Given the description of an element on the screen output the (x, y) to click on. 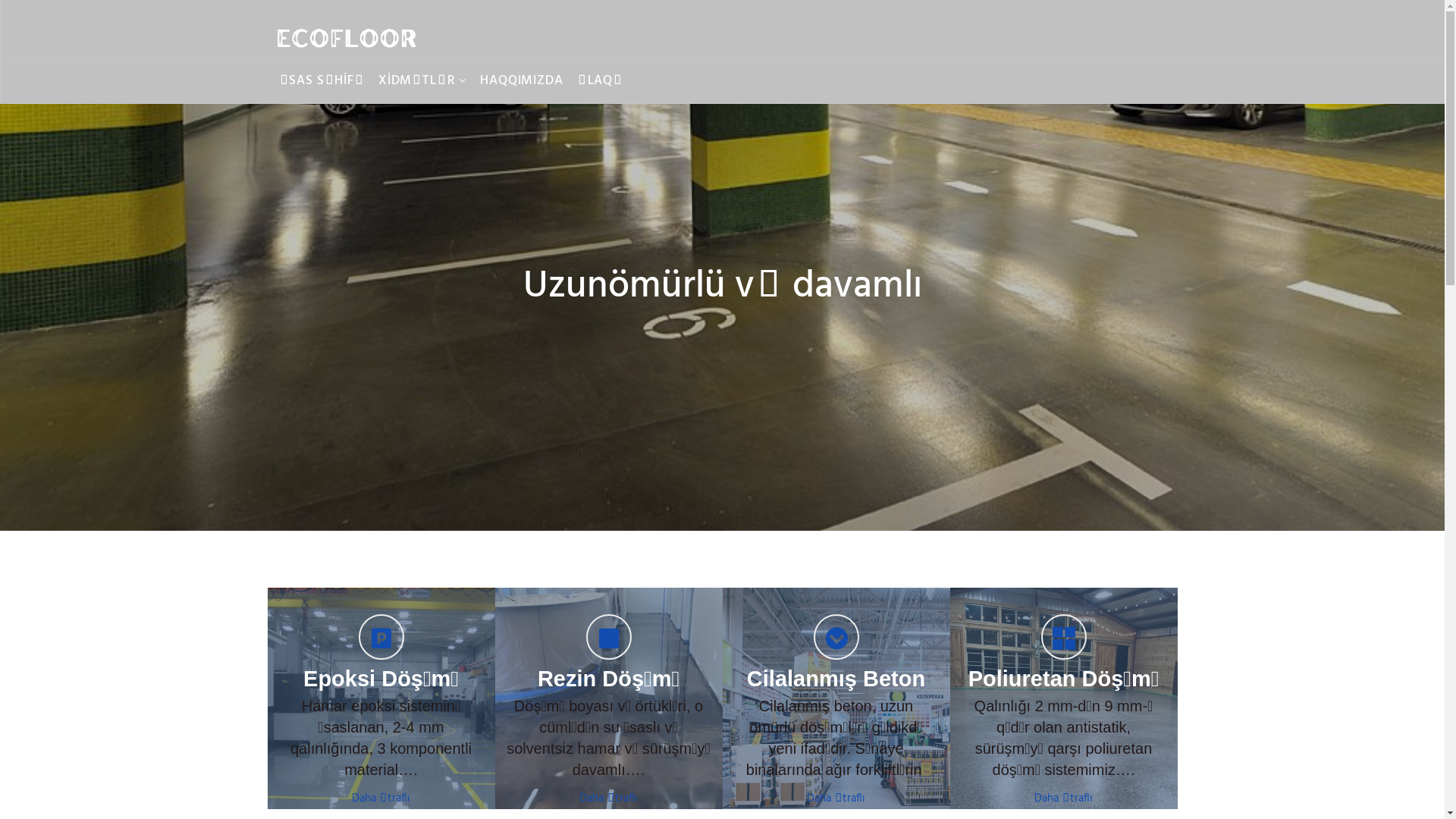
HAQQIMIZDA Element type: text (521, 80)
